Given the description of an element on the screen output the (x, y) to click on. 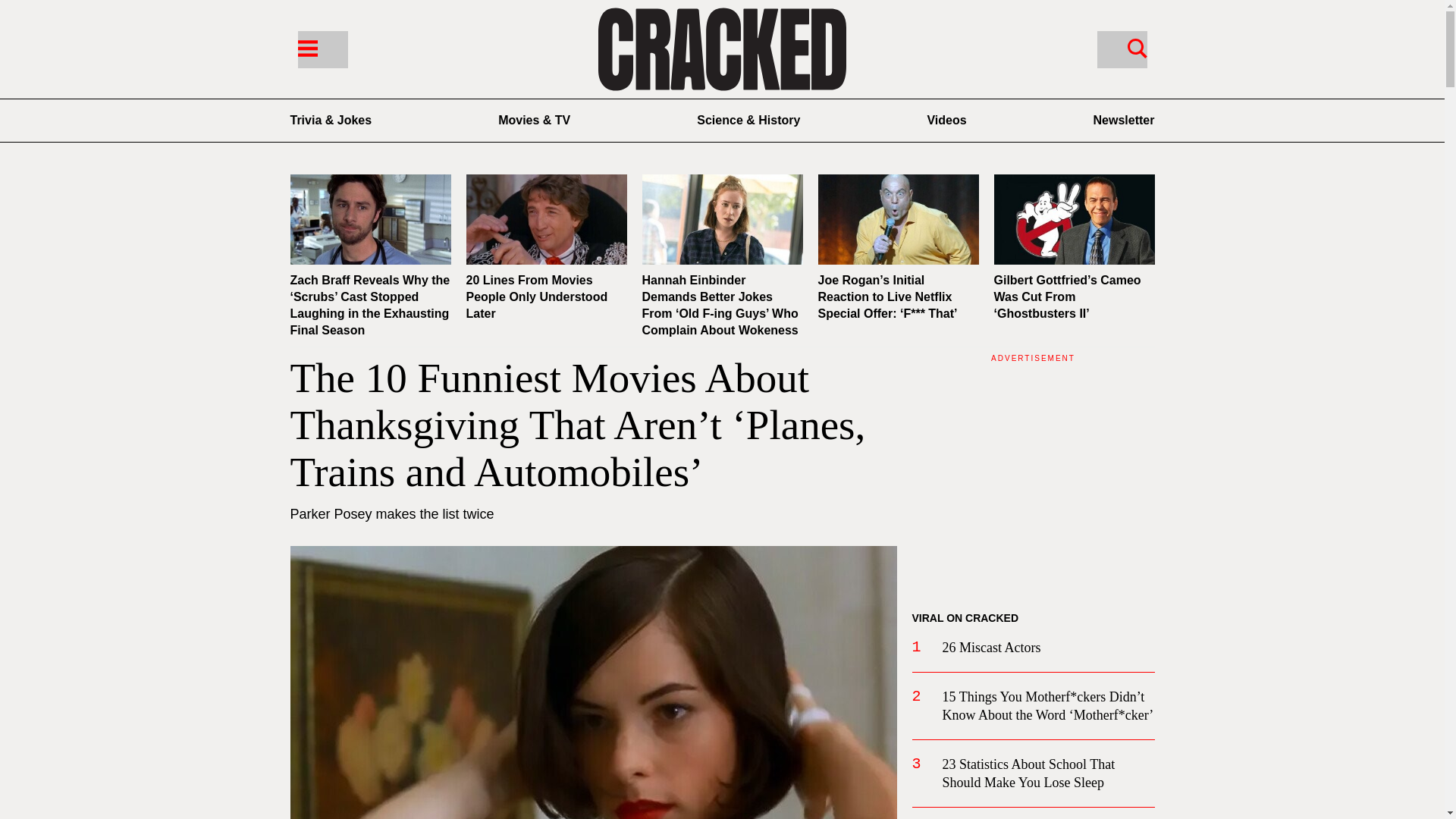
Search (1136, 47)
Cracked Newsletter (1123, 119)
Search (1121, 48)
20 Lines From Movies People Only Understood Later (545, 219)
20 Lines From Movies People Only Understood Later (536, 296)
Newsletter (1123, 119)
Videos (946, 119)
Menu (307, 47)
Videos (946, 119)
Menu (322, 48)
